Given the description of an element on the screen output the (x, y) to click on. 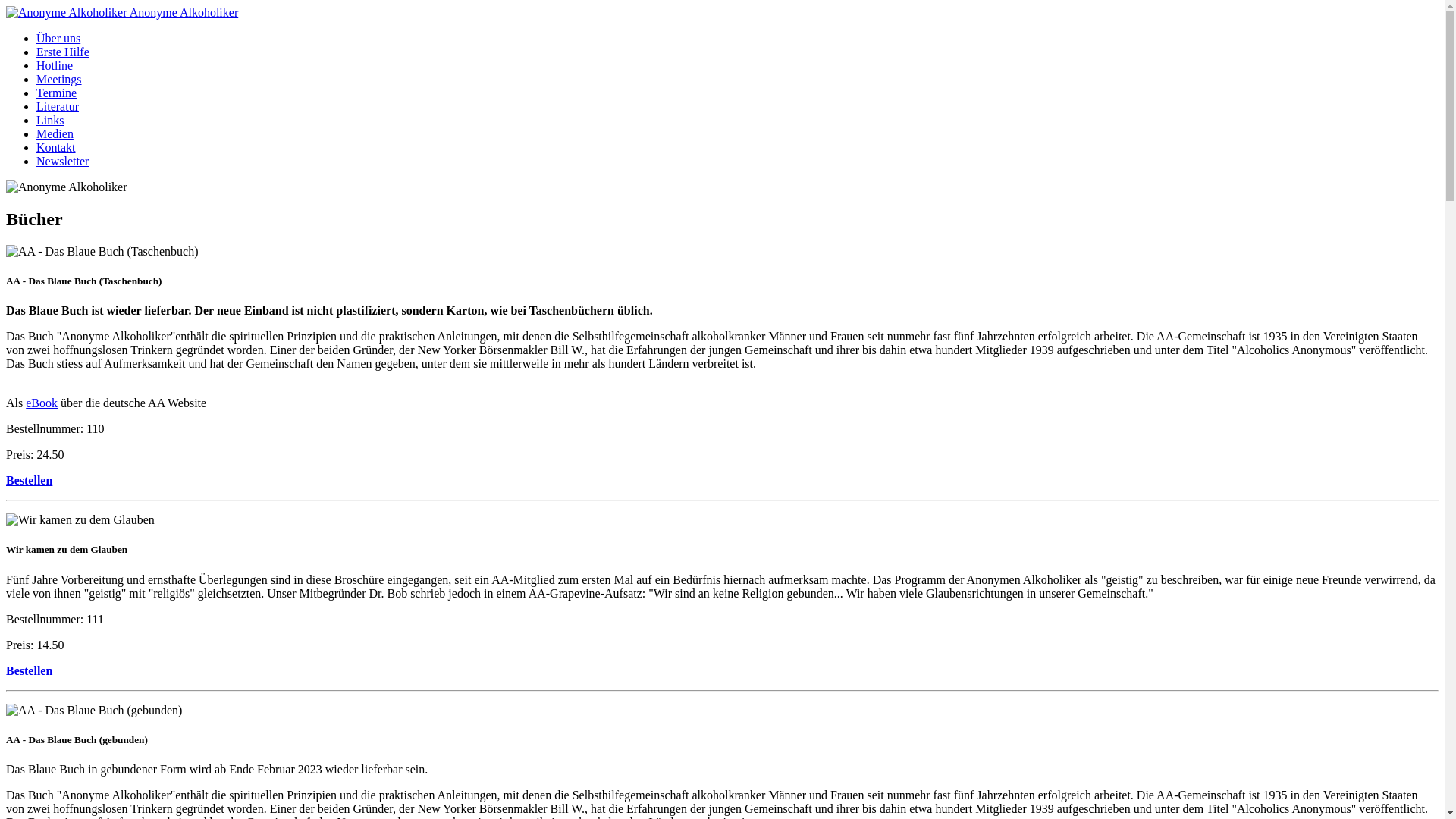
eBook Element type: text (41, 402)
Literatur Element type: text (57, 106)
Hotline Element type: text (54, 65)
Anonyme Alkoholiker Element type: text (122, 12)
Bestellen Element type: text (29, 670)
Meetings Element type: text (58, 78)
Erste Hilfe Element type: text (62, 51)
Bestellen Element type: text (29, 479)
Newsletter Element type: text (62, 160)
Termine Element type: text (56, 92)
Kontakt Element type: text (55, 147)
Links Element type: text (49, 119)
Medien Element type: text (54, 133)
